Given the description of an element on the screen output the (x, y) to click on. 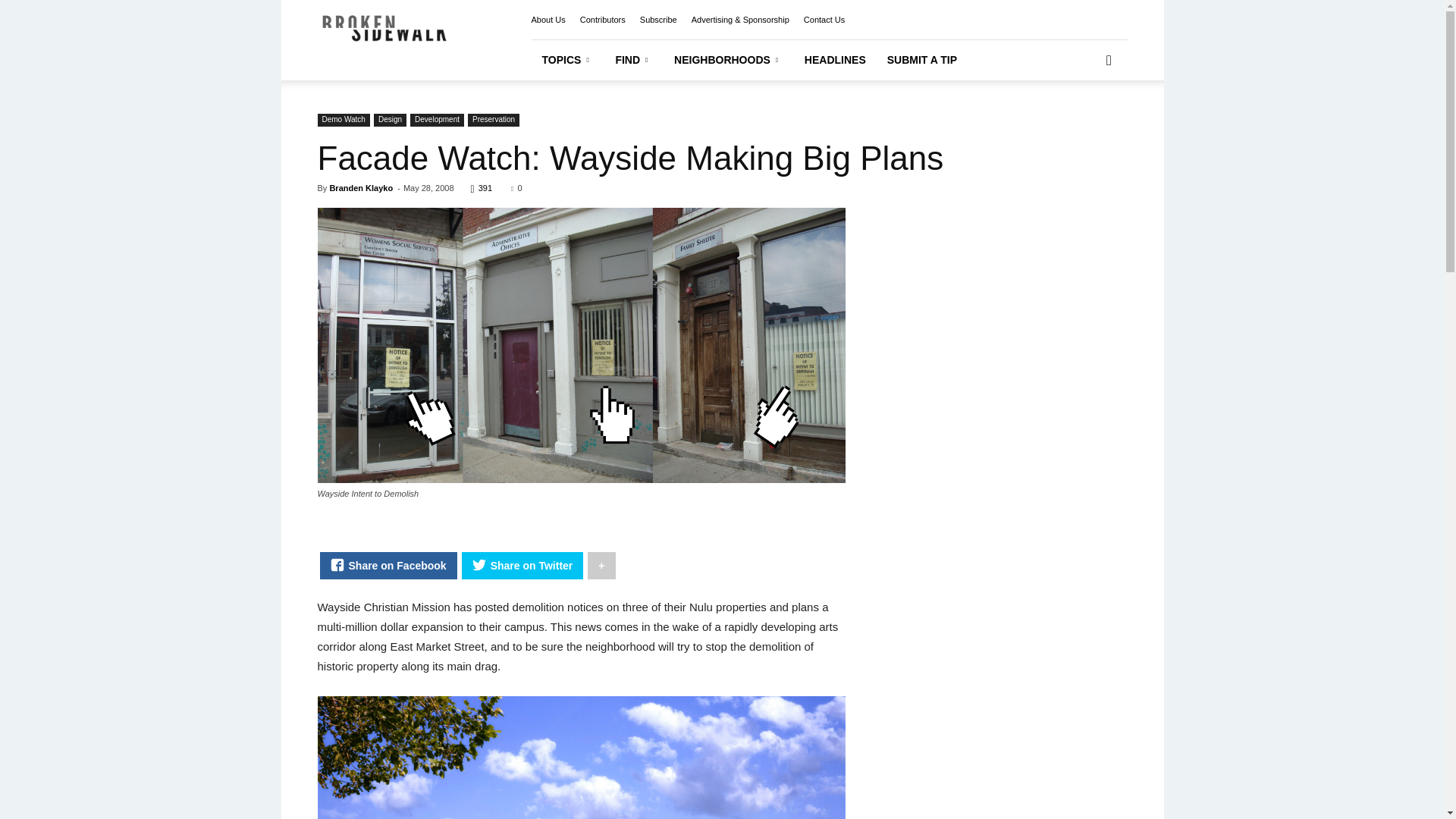
Broken Sidewalk - Homepage (407, 39)
